Given the description of an element on the screen output the (x, y) to click on. 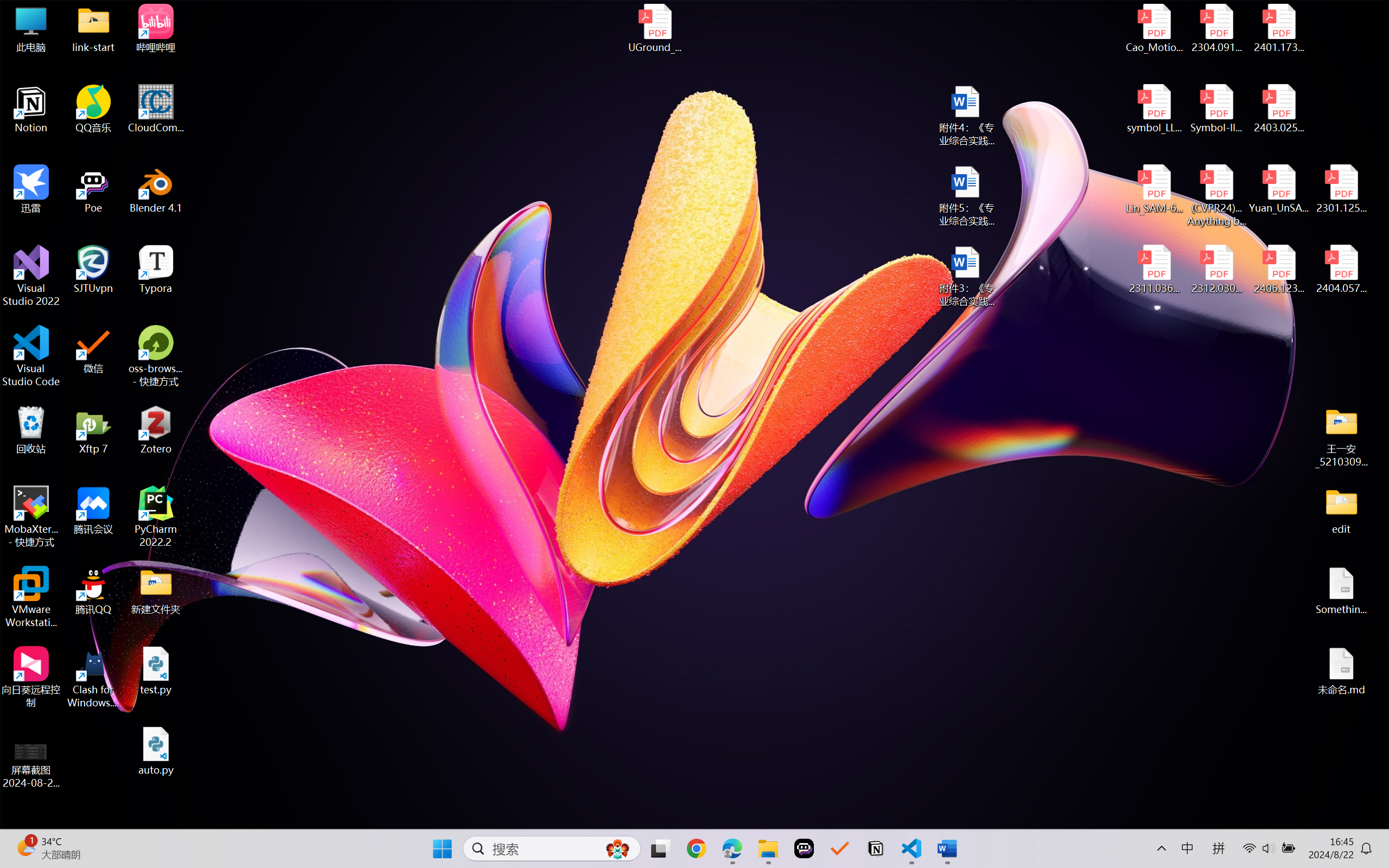
Visual Studio 2022 (31, 276)
Xftp 7 (93, 430)
VMware Workstation Pro (31, 597)
2401.17399v1.pdf (1278, 28)
2312.03032v2.pdf (1216, 269)
CloudCompare (156, 109)
